Given the description of an element on the screen output the (x, y) to click on. 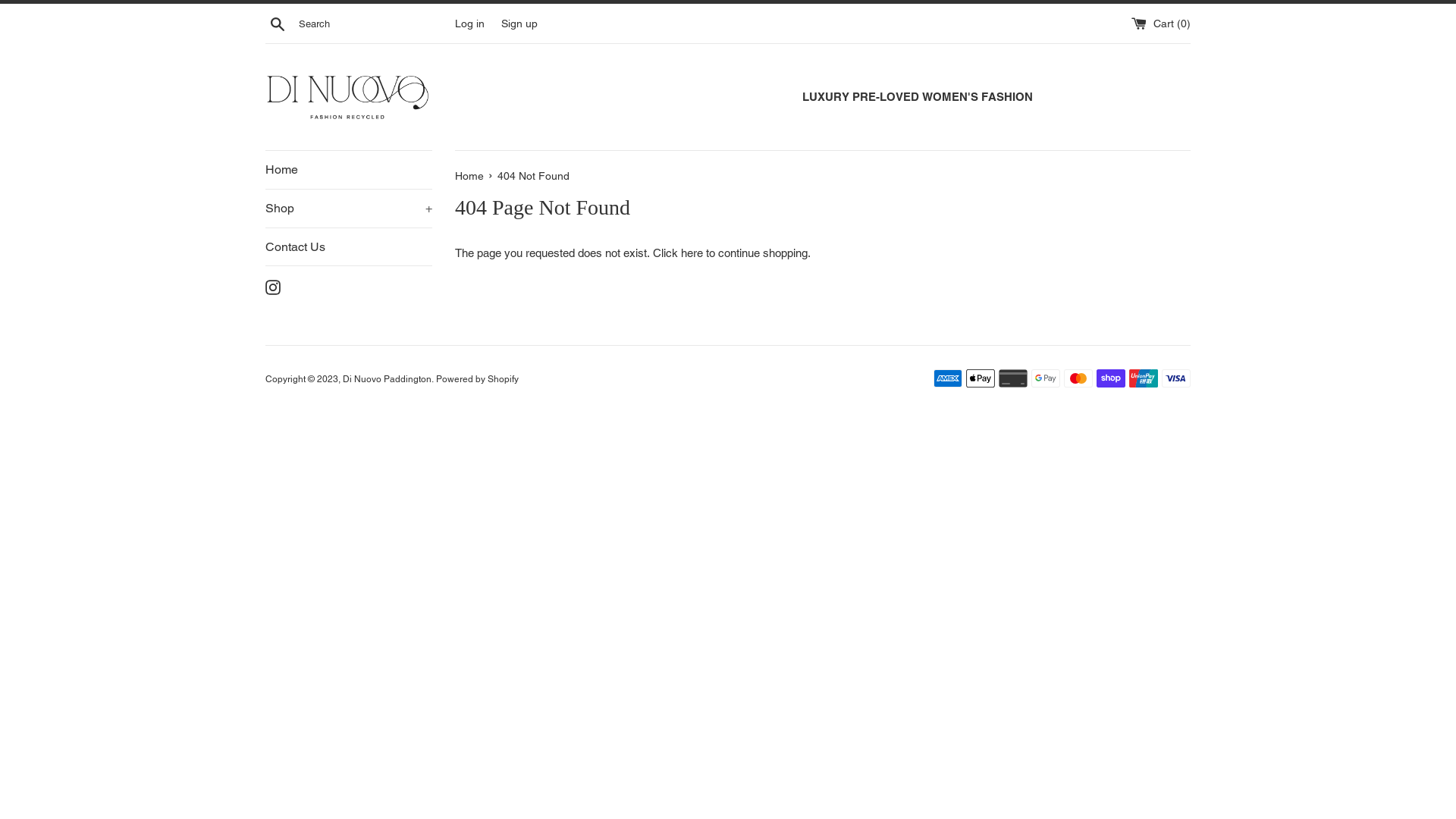
Instagram Element type: text (272, 285)
here Element type: text (691, 252)
Shop
+ Element type: text (348, 208)
Search Element type: text (277, 23)
Contact Us Element type: text (348, 247)
Log in Element type: text (469, 22)
Cart (0) Element type: text (1160, 22)
Home Element type: text (348, 169)
Sign up Element type: text (519, 22)
Powered by Shopify Element type: text (477, 378)
Di Nuovo Paddington Element type: text (386, 378)
Home Element type: text (470, 175)
